Given the description of an element on the screen output the (x, y) to click on. 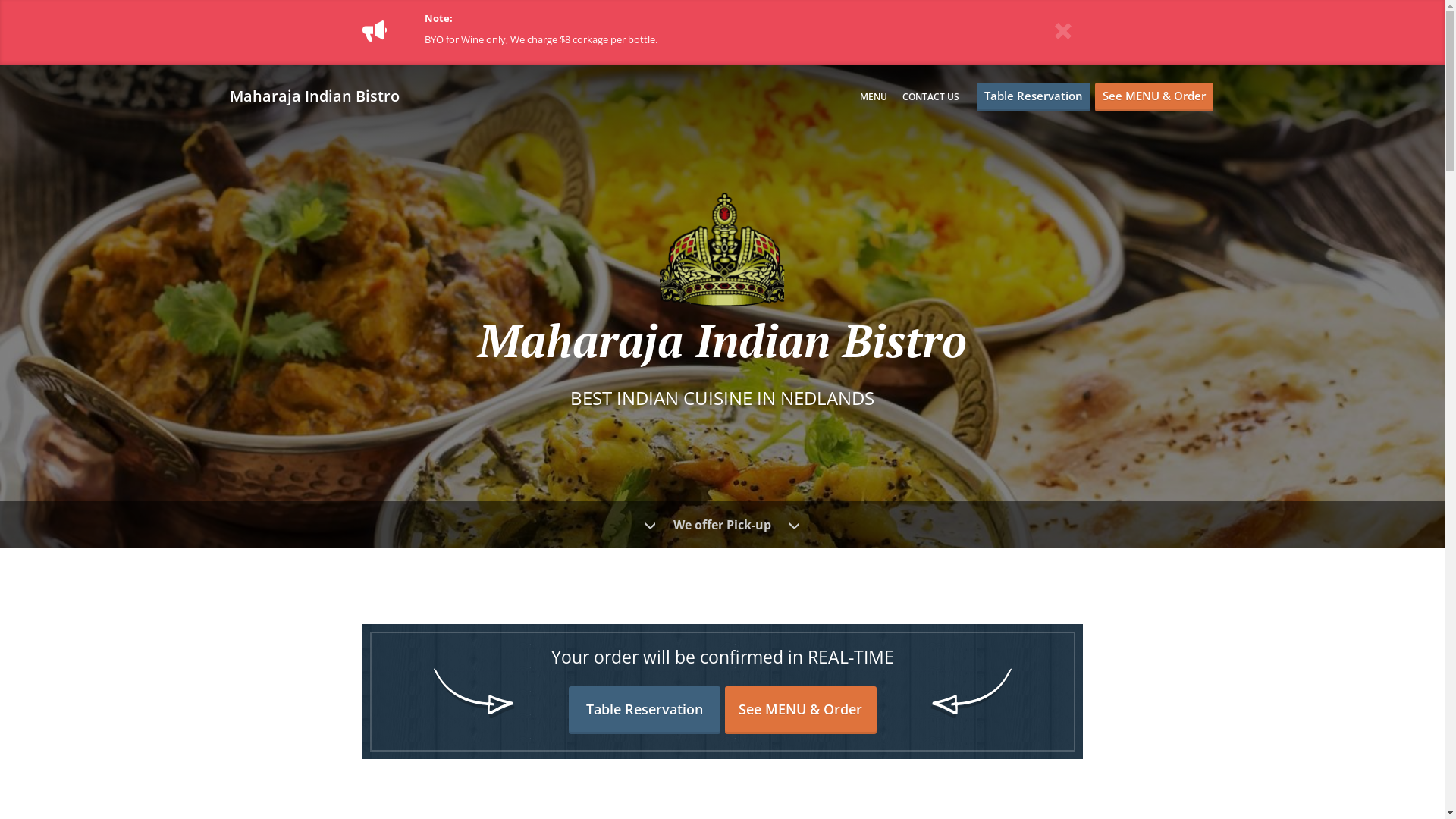
CONTACT US Element type: text (930, 96)
MENU Element type: text (873, 96)
Maharaja Indian Bistro Element type: text (321, 95)
